Given the description of an element on the screen output the (x, y) to click on. 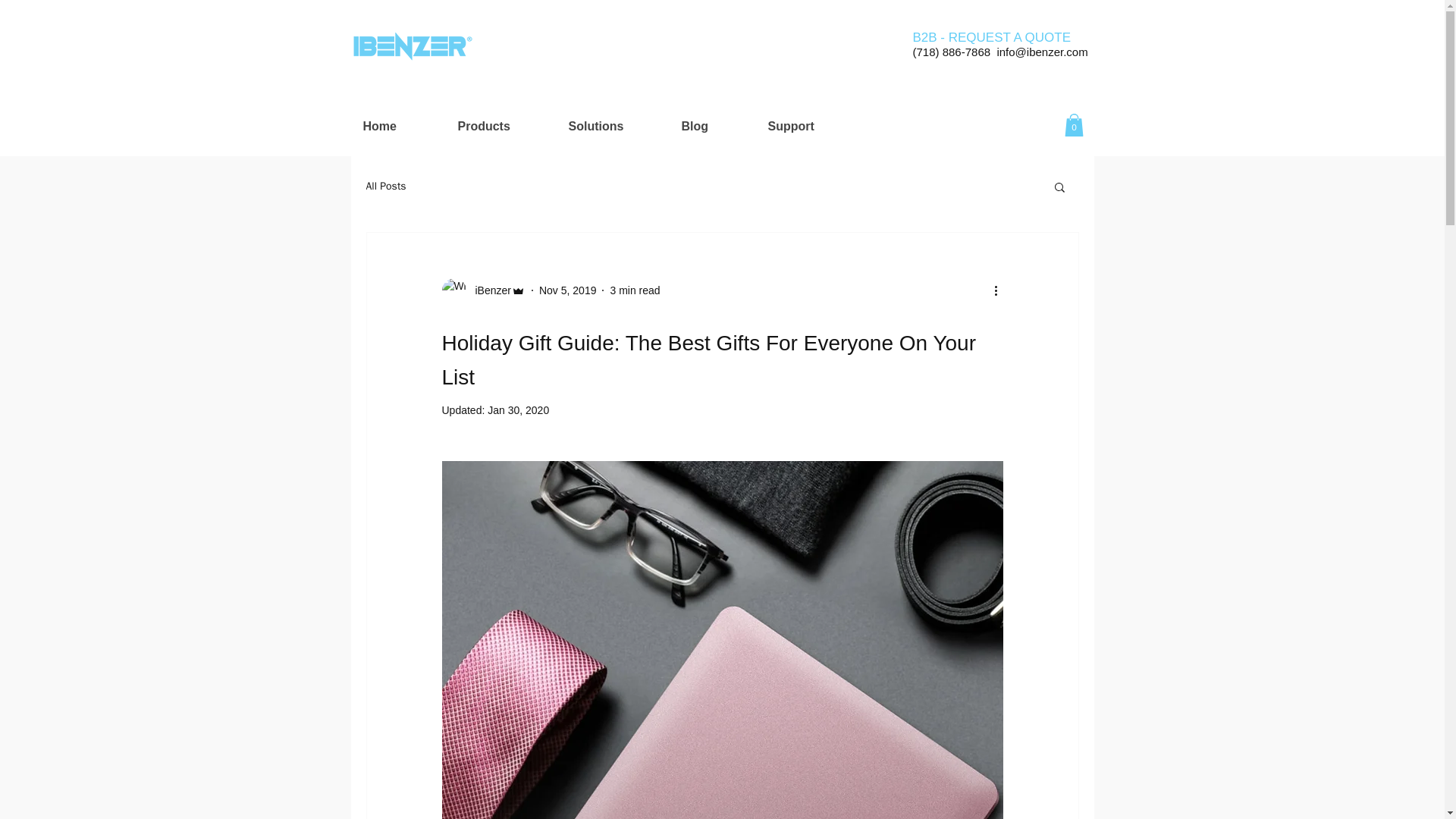
Jan 30, 2020 (517, 410)
Support (808, 125)
iBenzer (482, 290)
iBenzer (488, 289)
All Posts (385, 186)
Home (398, 125)
Blog (712, 125)
B2B - REQUEST A QUOTE (991, 37)
Products (500, 125)
Nov 5, 2019 (567, 289)
Solutions (612, 125)
3 min read (634, 289)
